Given the description of an element on the screen output the (x, y) to click on. 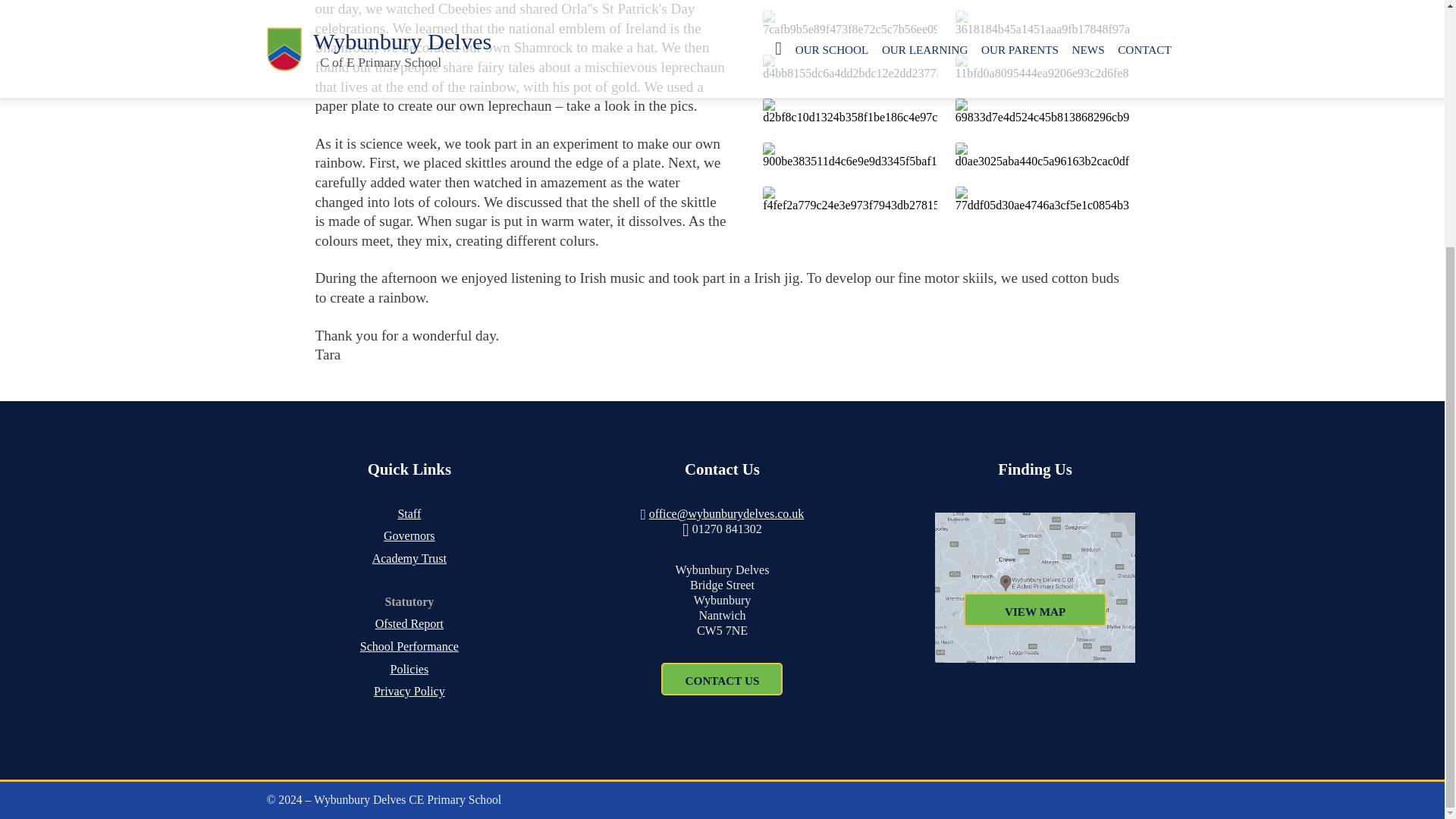
Visit our Facebook Page (1116, 798)
Sign into the Cloud (1170, 798)
Visit our X Feed (1143, 798)
